Given the description of an element on the screen output the (x, y) to click on. 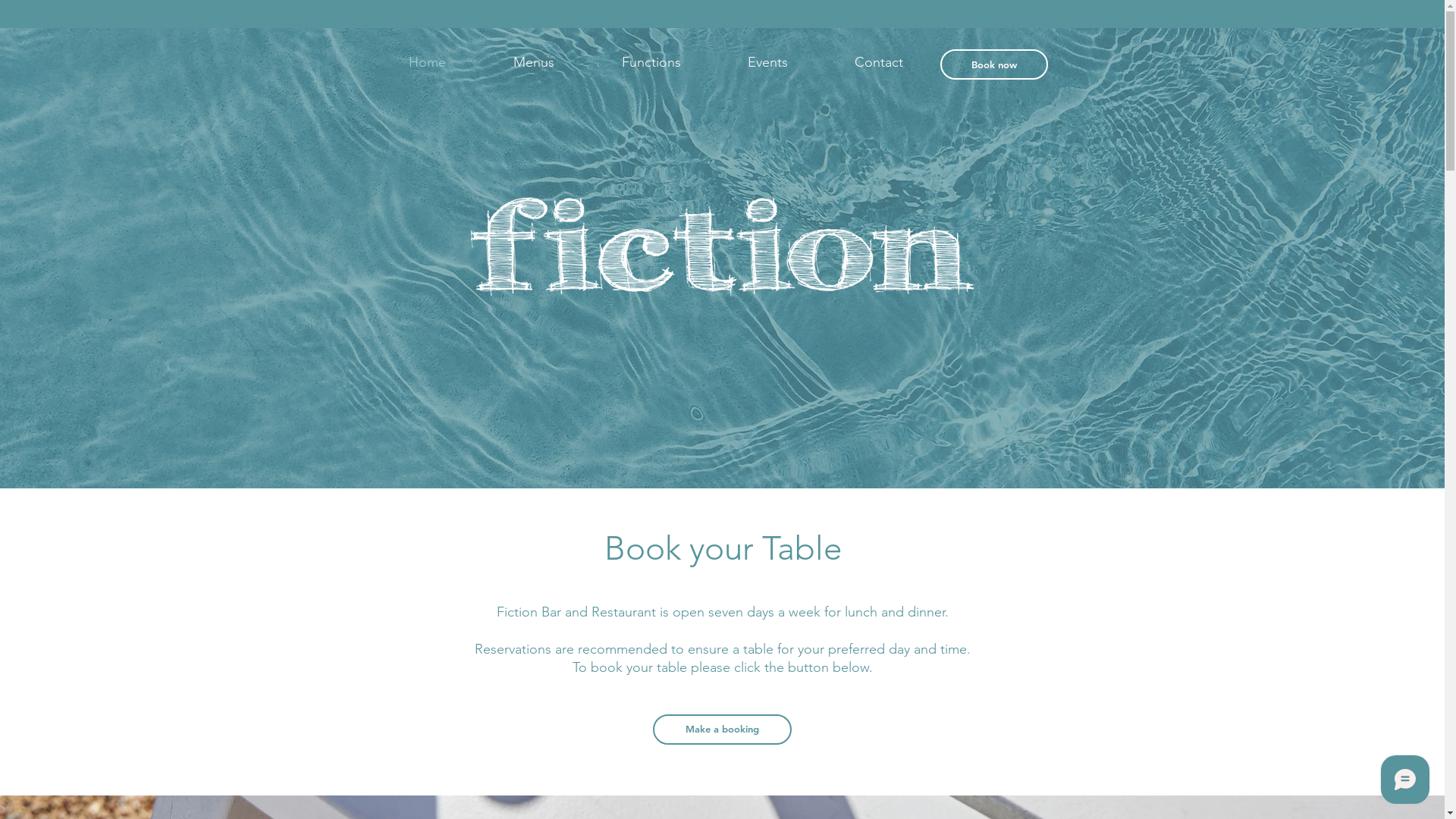
Book now Element type: text (994, 64)
Functions Element type: text (651, 62)
Menus Element type: text (533, 62)
Home Element type: text (426, 62)
Events Element type: text (767, 62)
Contact Element type: text (877, 62)
Make a booking Element type: text (721, 729)
